Given the description of an element on the screen output the (x, y) to click on. 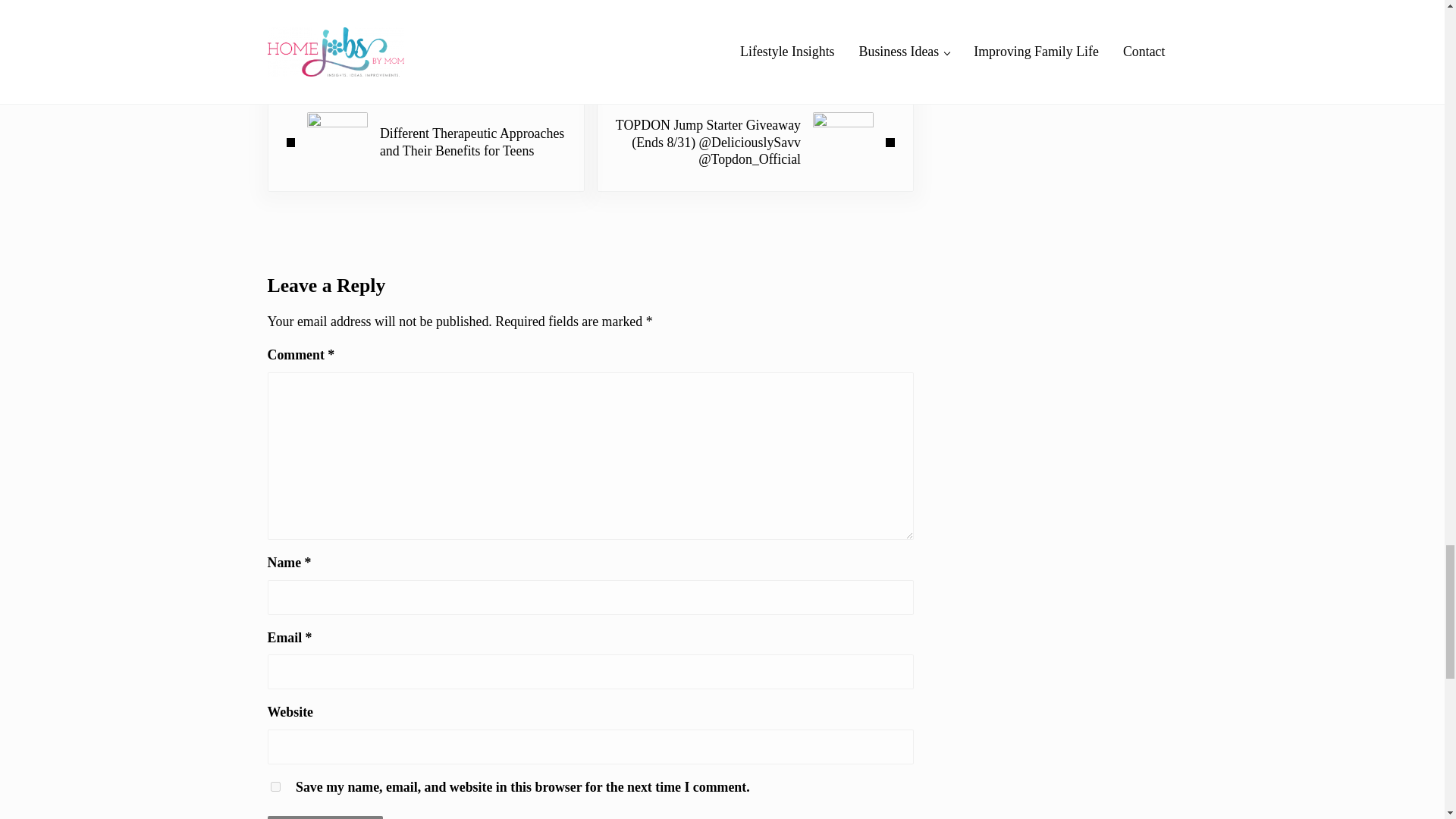
yes (274, 786)
Post Comment (324, 817)
